Given the description of an element on the screen output the (x, y) to click on. 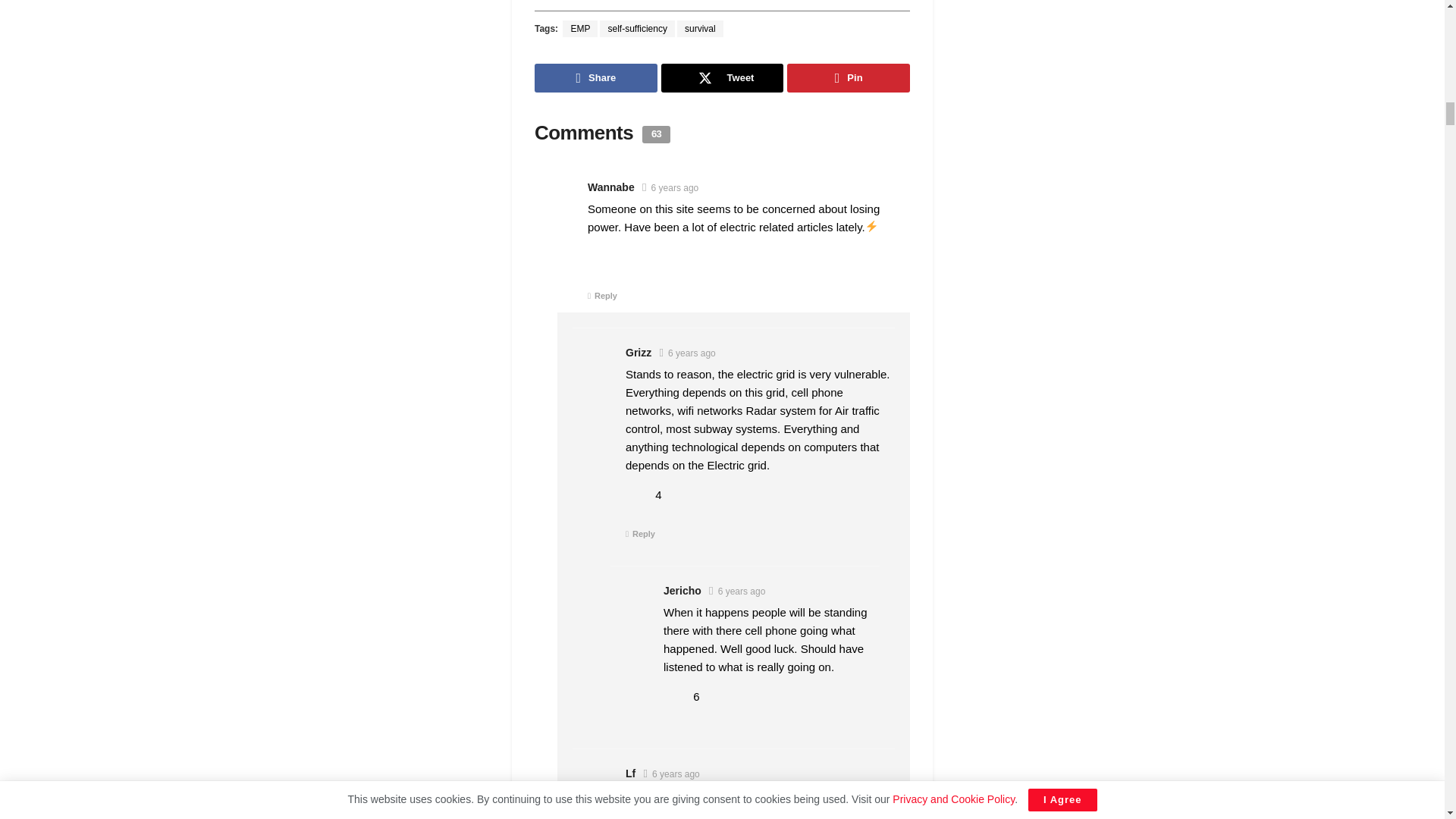
Did you like this comment? (675, 696)
Did you like this comment? (638, 494)
Did you like this comment? (599, 256)
